Given the description of an element on the screen output the (x, y) to click on. 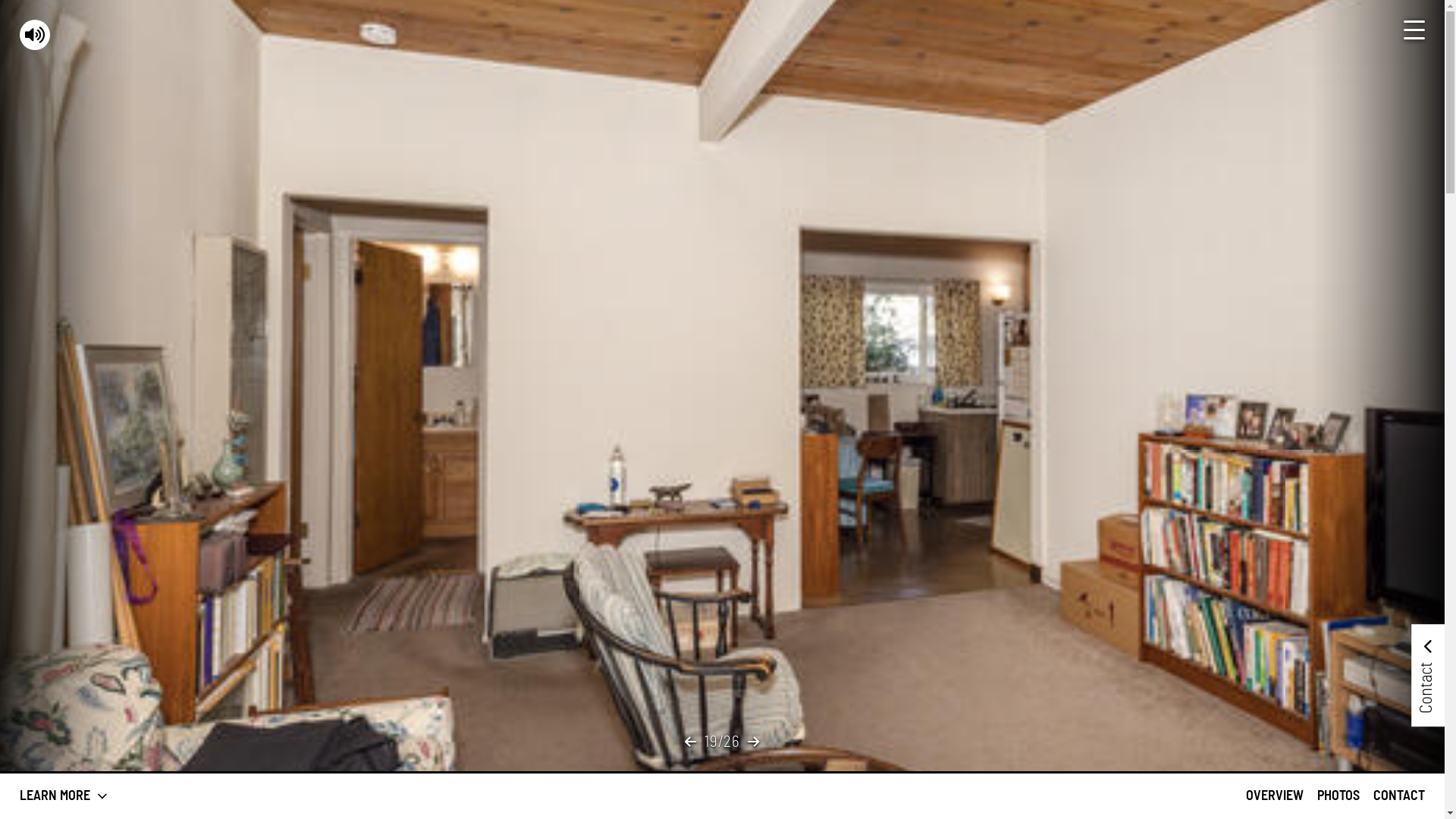
CONTACT Element type: text (1398, 796)
OVERVIEW Element type: text (1274, 796)
PHOTOS Element type: text (1338, 796)
